Given the description of an element on the screen output the (x, y) to click on. 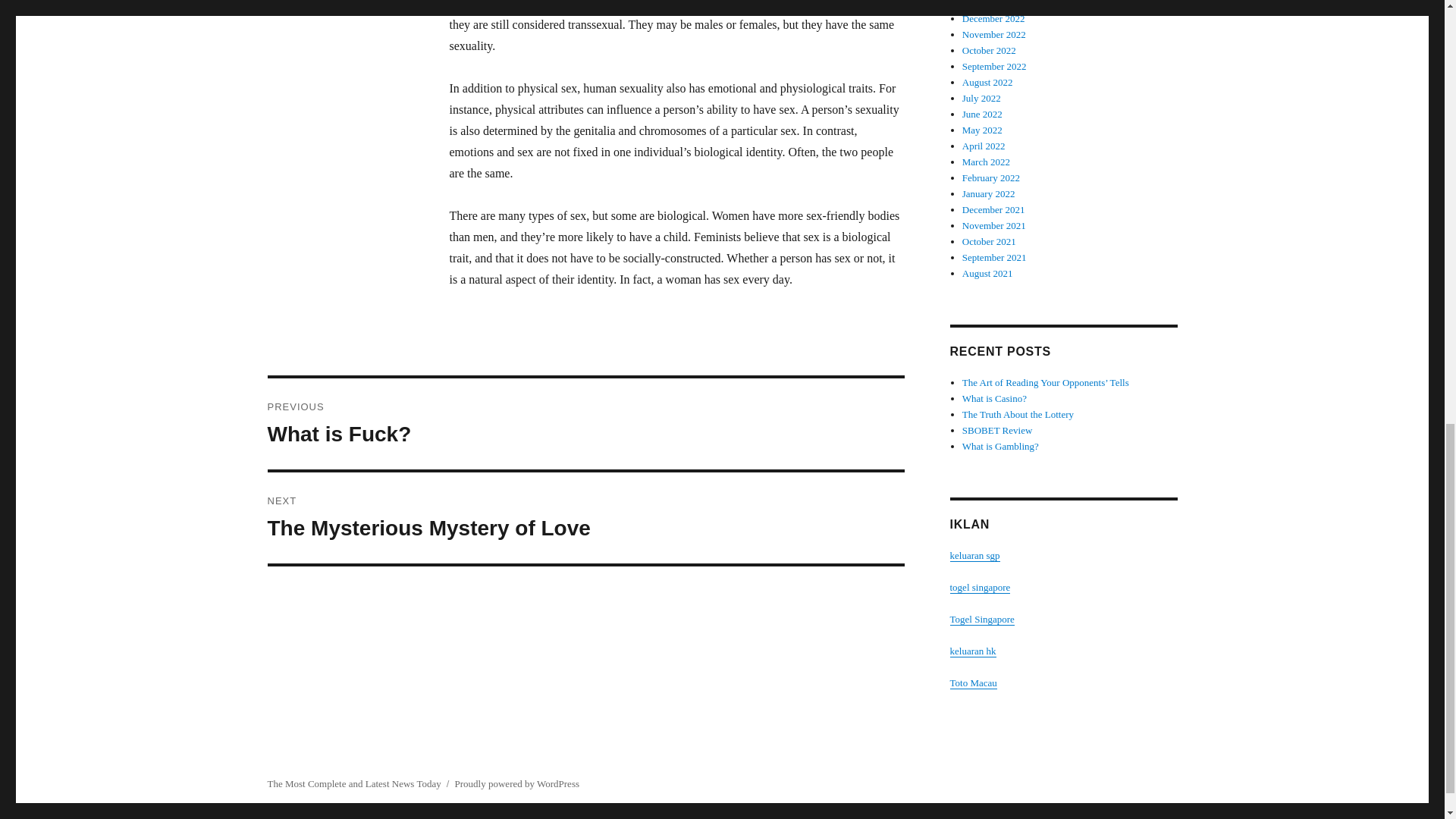
January 2023 (585, 517)
June 2022 (988, 4)
October 2022 (982, 113)
August 2022 (989, 50)
July 2022 (987, 81)
December 2022 (981, 98)
November 2022 (993, 18)
September 2022 (994, 34)
